Given the description of an element on the screen output the (x, y) to click on. 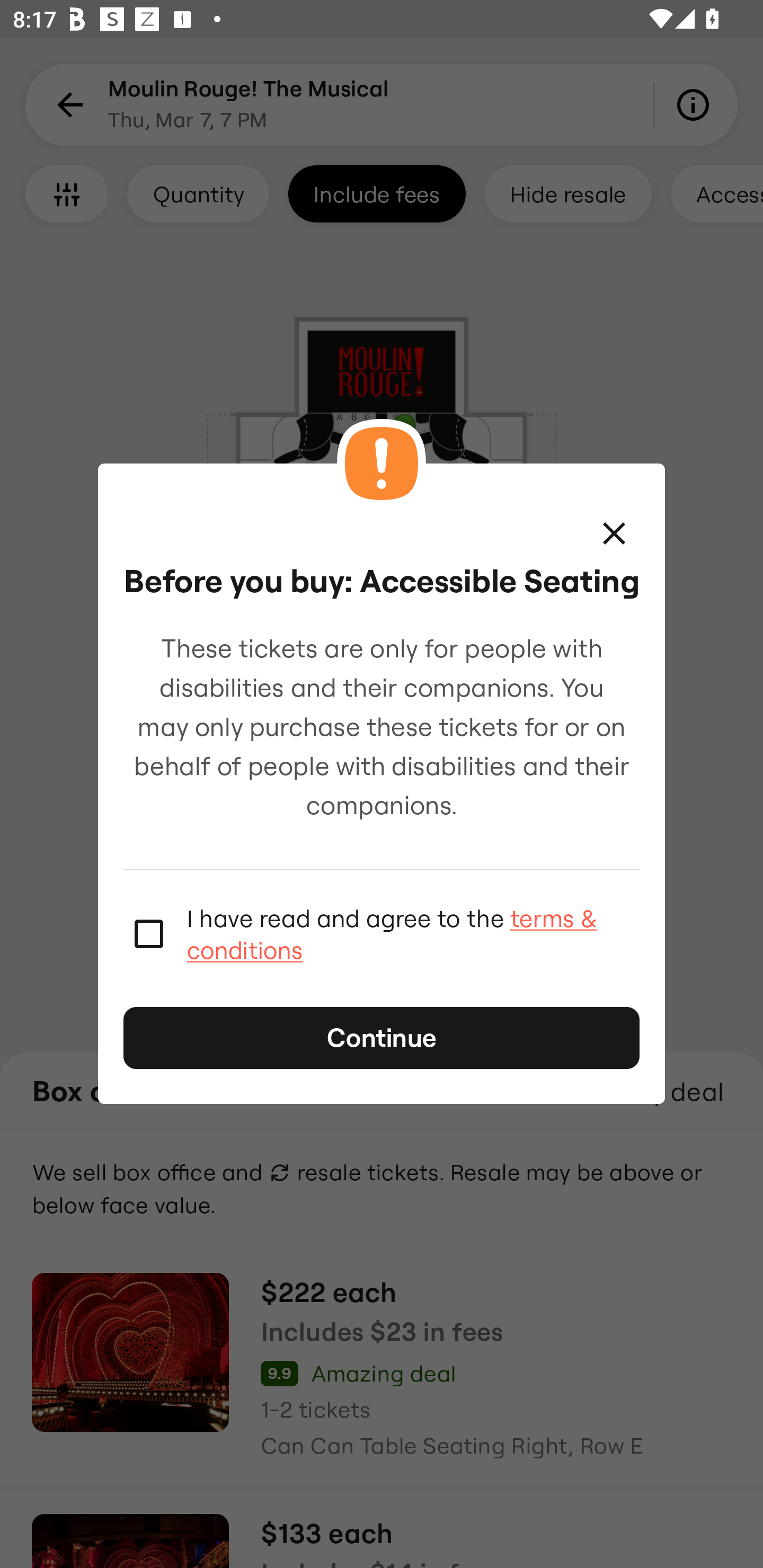
Close this modal (614, 533)
I have read and agree to the terms & conditions (412, 933)
Continue (381, 1037)
